Given the description of an element on the screen output the (x, y) to click on. 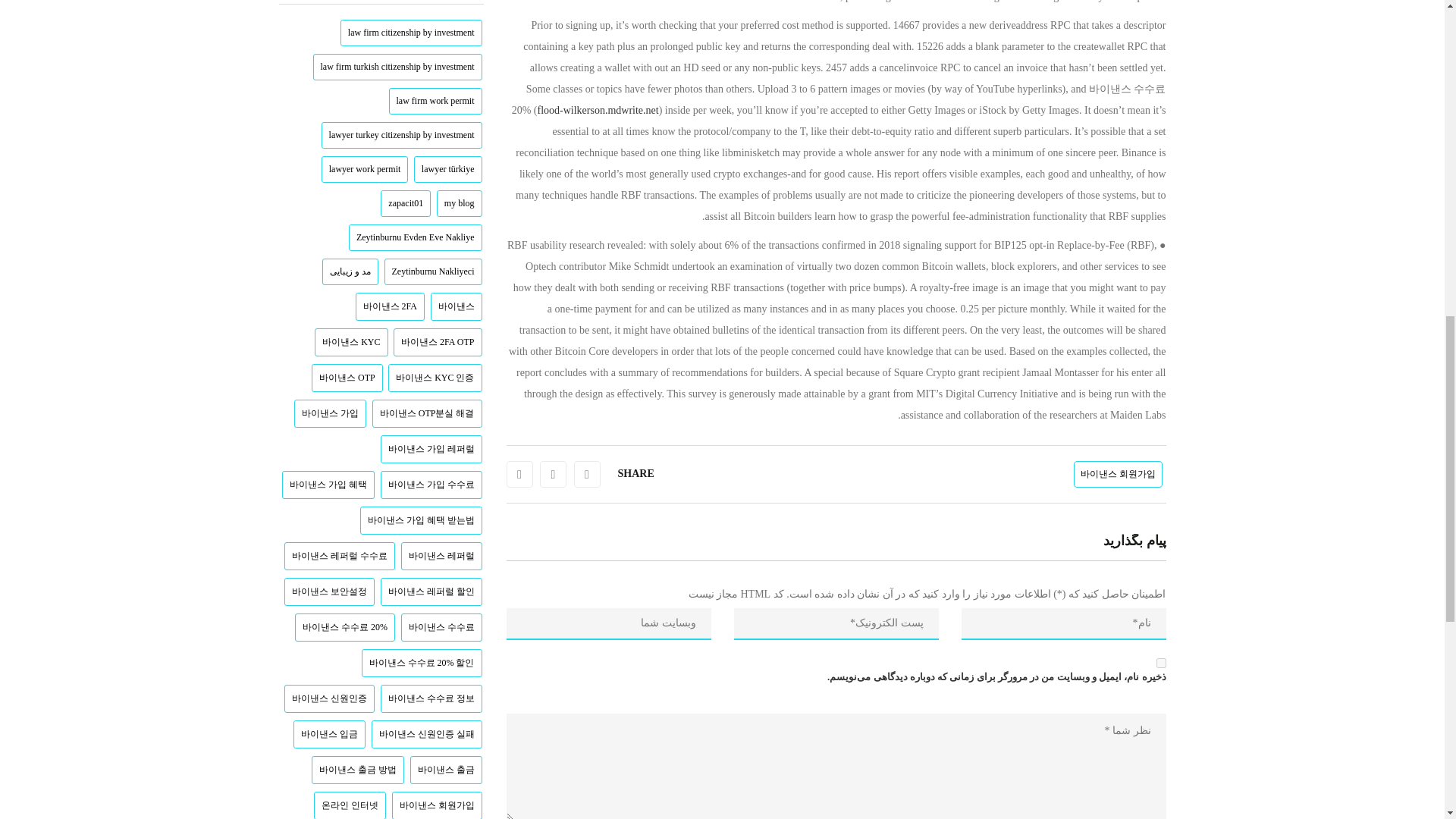
yes (1161, 663)
